Given the description of an element on the screen output the (x, y) to click on. 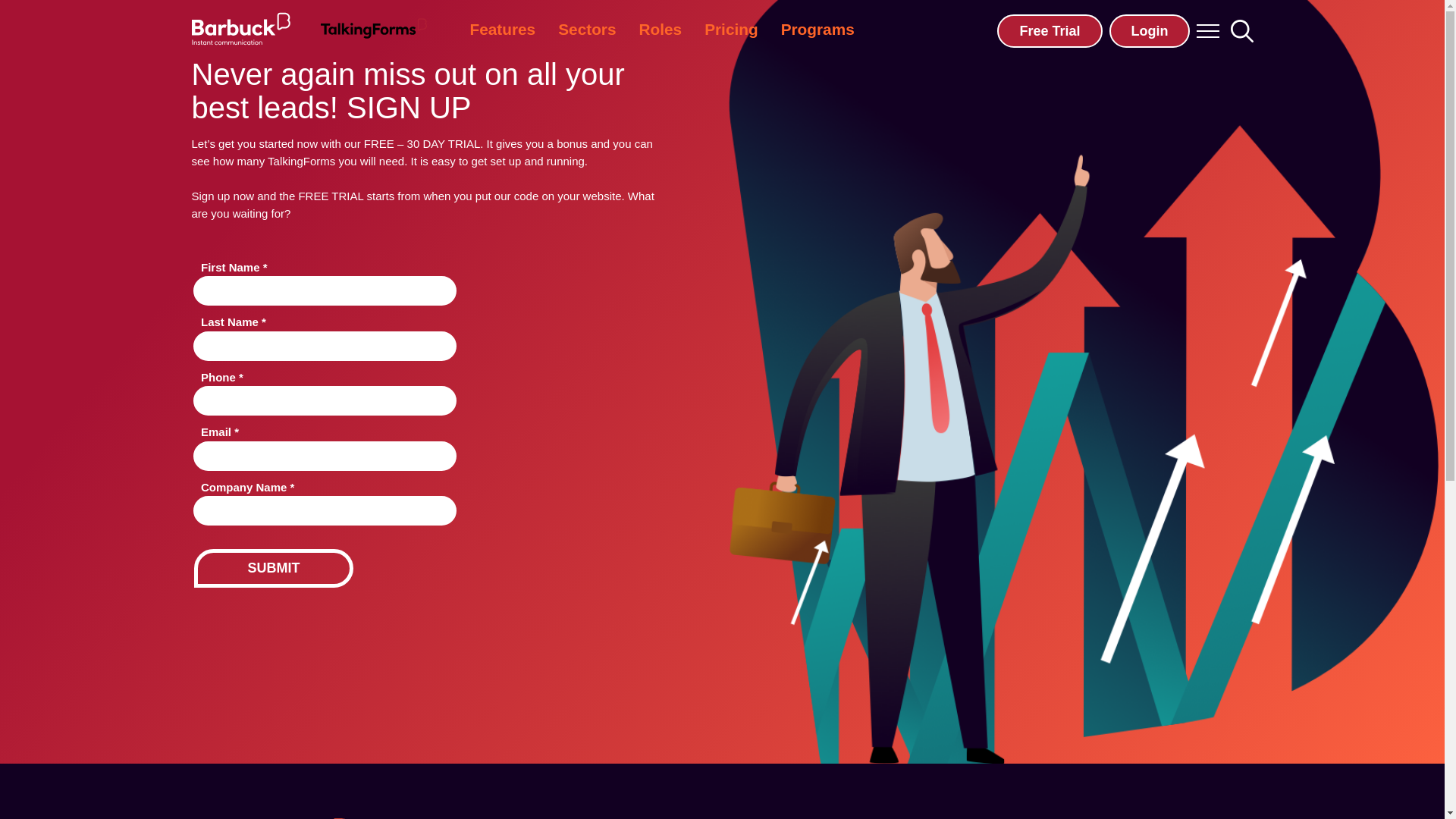
Features (502, 29)
Pricing (731, 29)
Login (1148, 30)
Programs (818, 29)
Roles (660, 29)
Logo (239, 28)
Logo (373, 28)
Sectors (587, 29)
Logo (373, 28)
Logo (239, 28)
Free Trial (1049, 30)
